Given the description of an element on the screen output the (x, y) to click on. 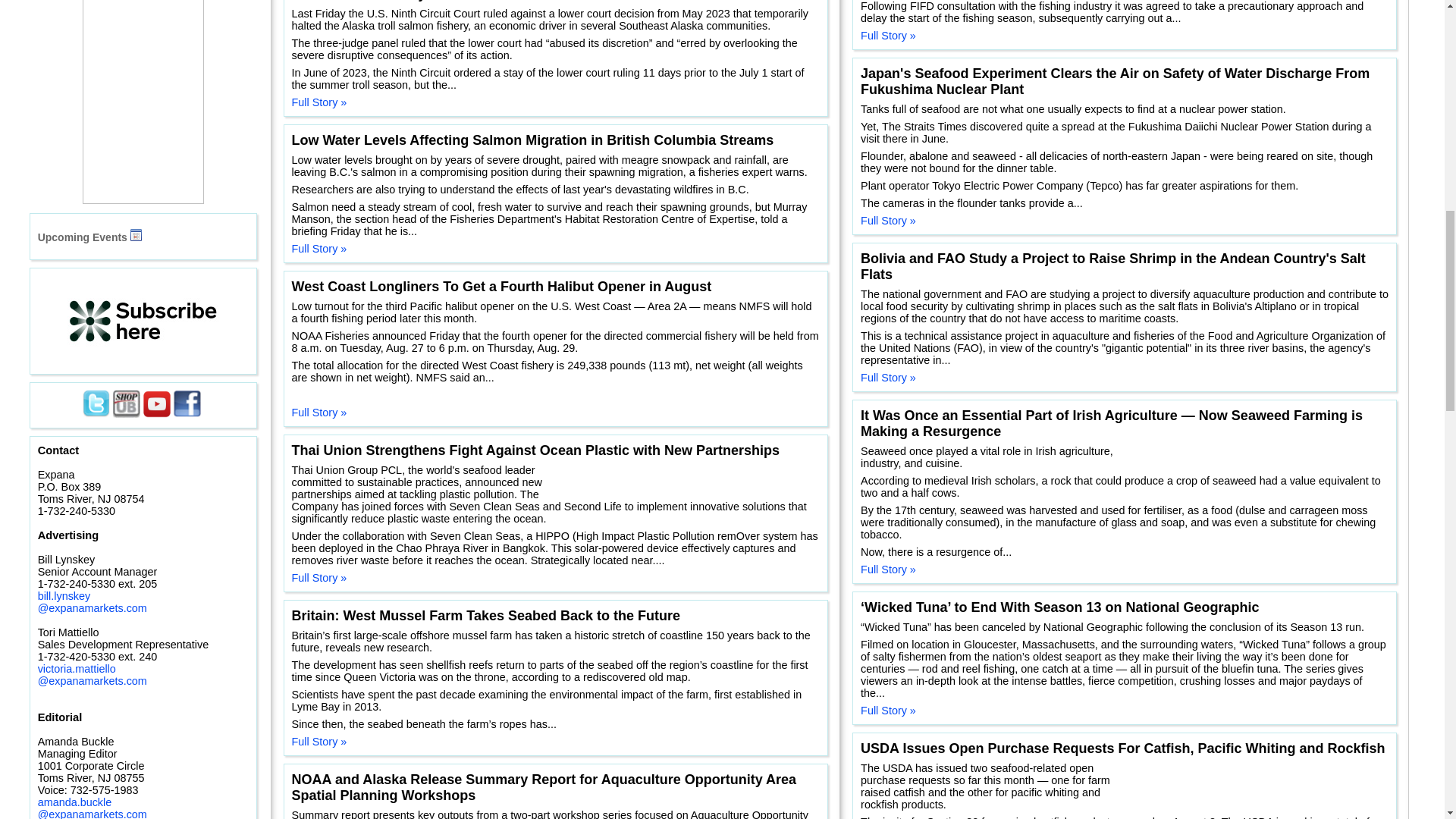
Market Story (137, 257)
Market Story (35, 502)
Market Story (170, 321)
Market Story (159, 19)
